Given the description of an element on the screen output the (x, y) to click on. 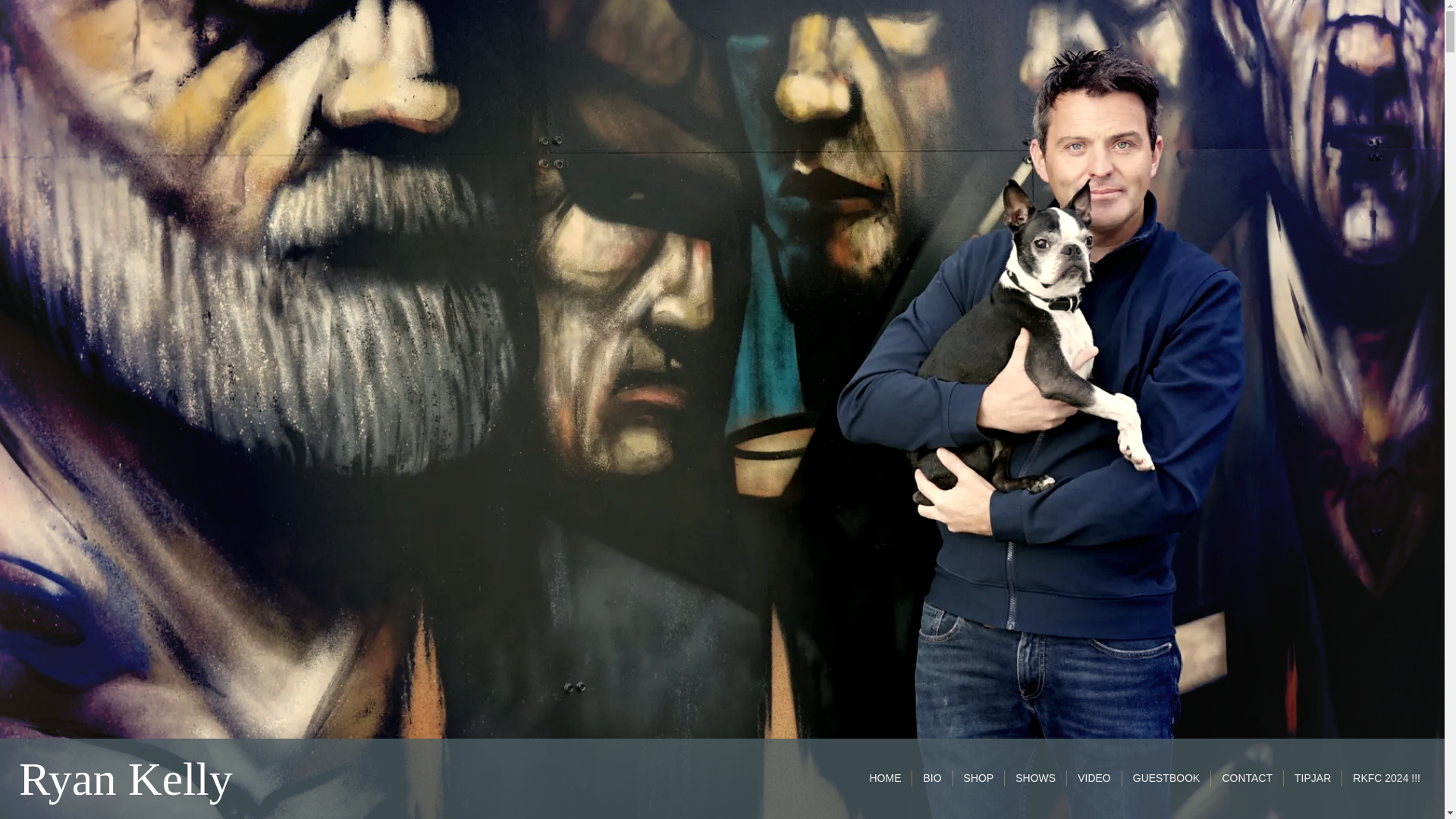
CONTACT (1246, 778)
GUESTBOOK (1165, 778)
RKFC 2024 !!! (1386, 778)
HOME (885, 778)
TIPJAR (1312, 778)
SHOP (978, 778)
BIO (931, 778)
Ryan Kelly (125, 788)
SHOWS (1034, 778)
VIDEO (1093, 778)
